Given the description of an element on the screen output the (x, y) to click on. 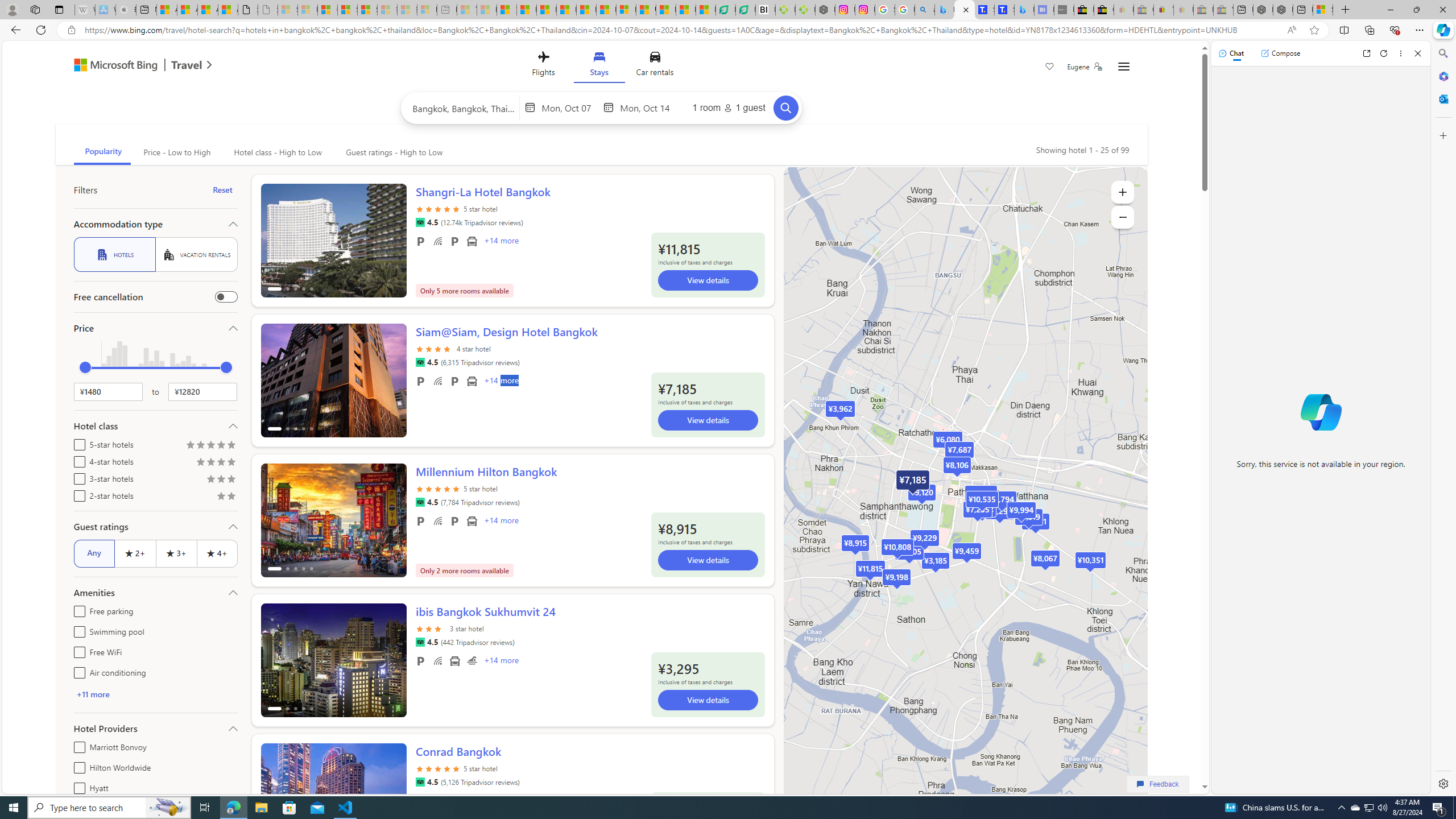
1 room1 guest (728, 107)
Accommodation type (154, 223)
Search hotels or place (463, 107)
LendingTree - Compare Lenders (745, 9)
Aberdeen, Hong Kong SAR severe weather | Microsoft Weather (227, 9)
End date (647, 107)
Marriott Bonvoy (76, 745)
Microsoft Bing Travel - Shangri-La Hotel Bangkok (1024, 9)
